Given the description of an element on the screen output the (x, y) to click on. 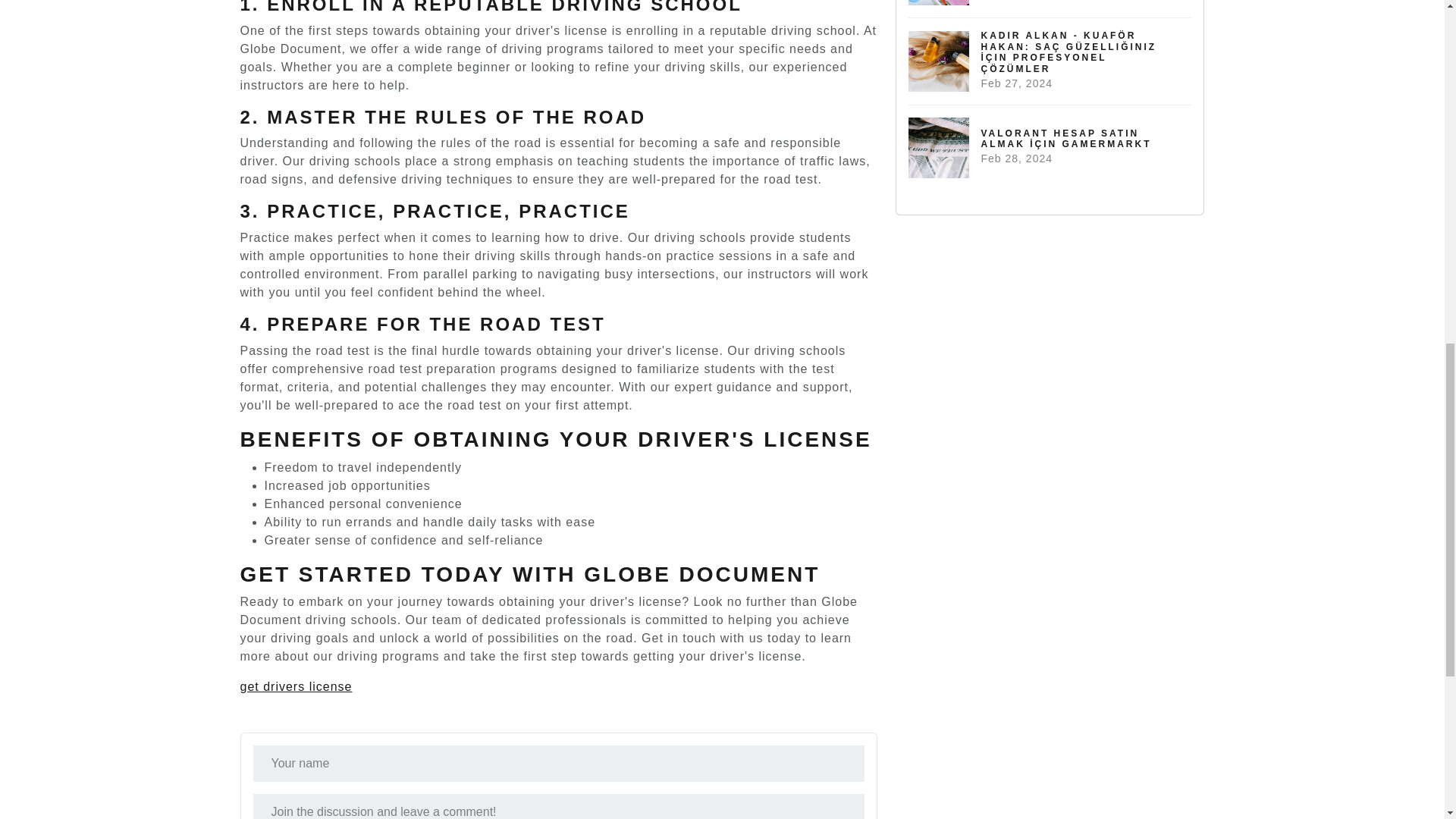
get drivers license (296, 686)
